Given the description of an element on the screen output the (x, y) to click on. 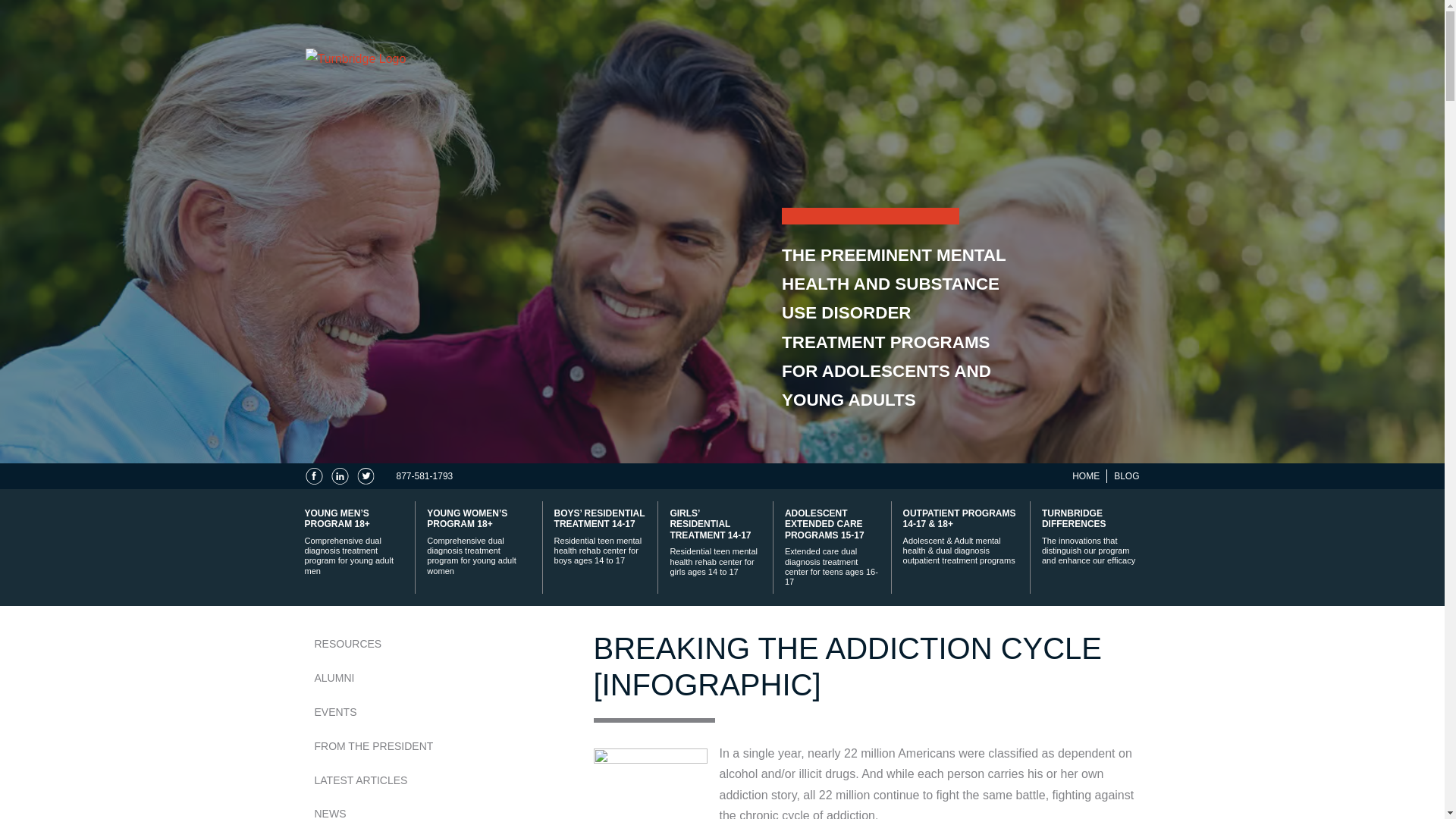
BLOG (1125, 475)
FACEBOOK (312, 475)
877-581-1793 (424, 475)
LINKEDIN (338, 475)
TWITTER (364, 475)
TWITTER (365, 475)
LINKEDIN (338, 475)
FACEBOOK (312, 475)
HOME (1085, 475)
